Given the description of an element on the screen output the (x, y) to click on. 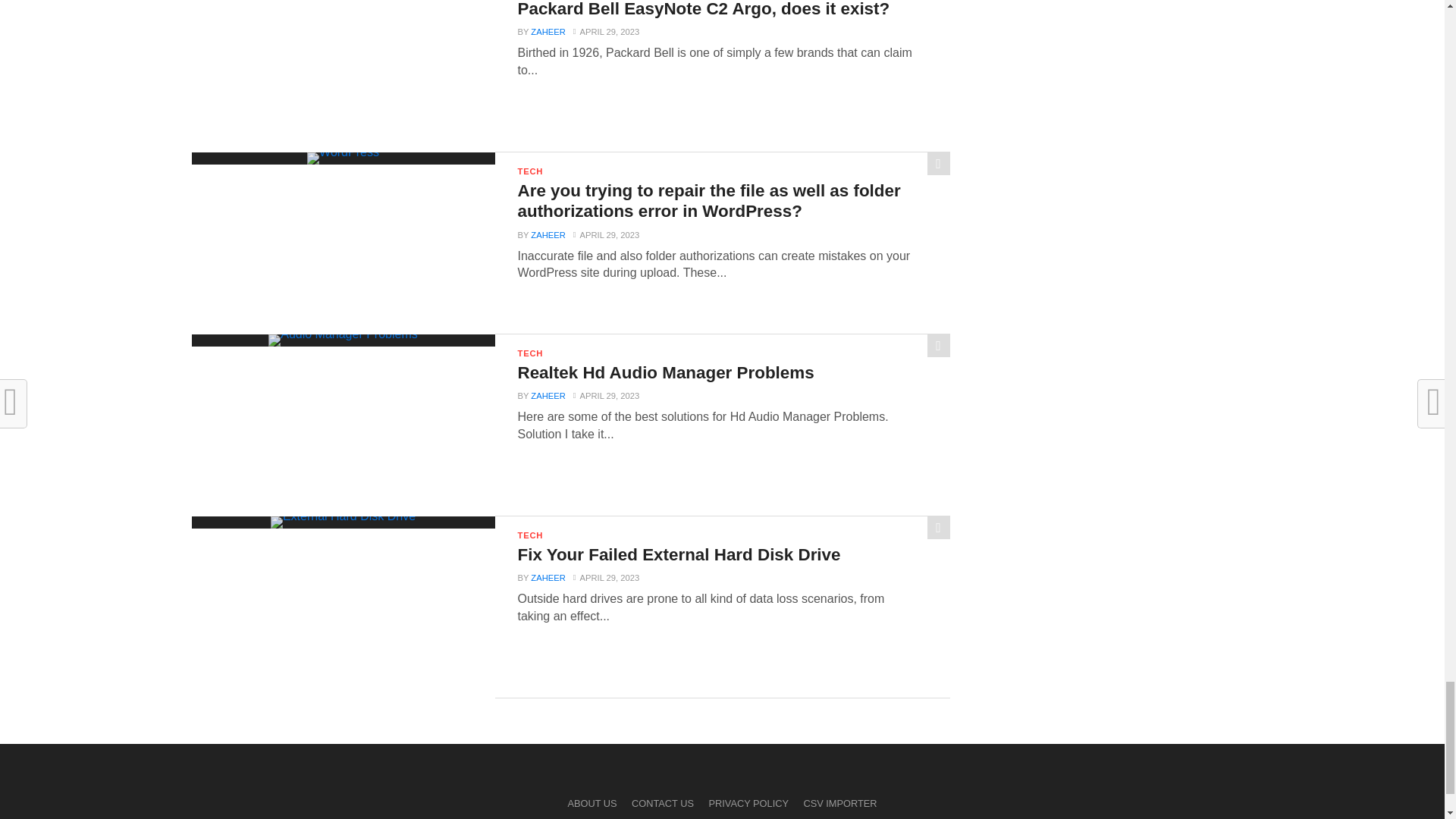
Posts by Zaheer (547, 31)
ZAHEER (547, 31)
